Given the description of an element on the screen output the (x, y) to click on. 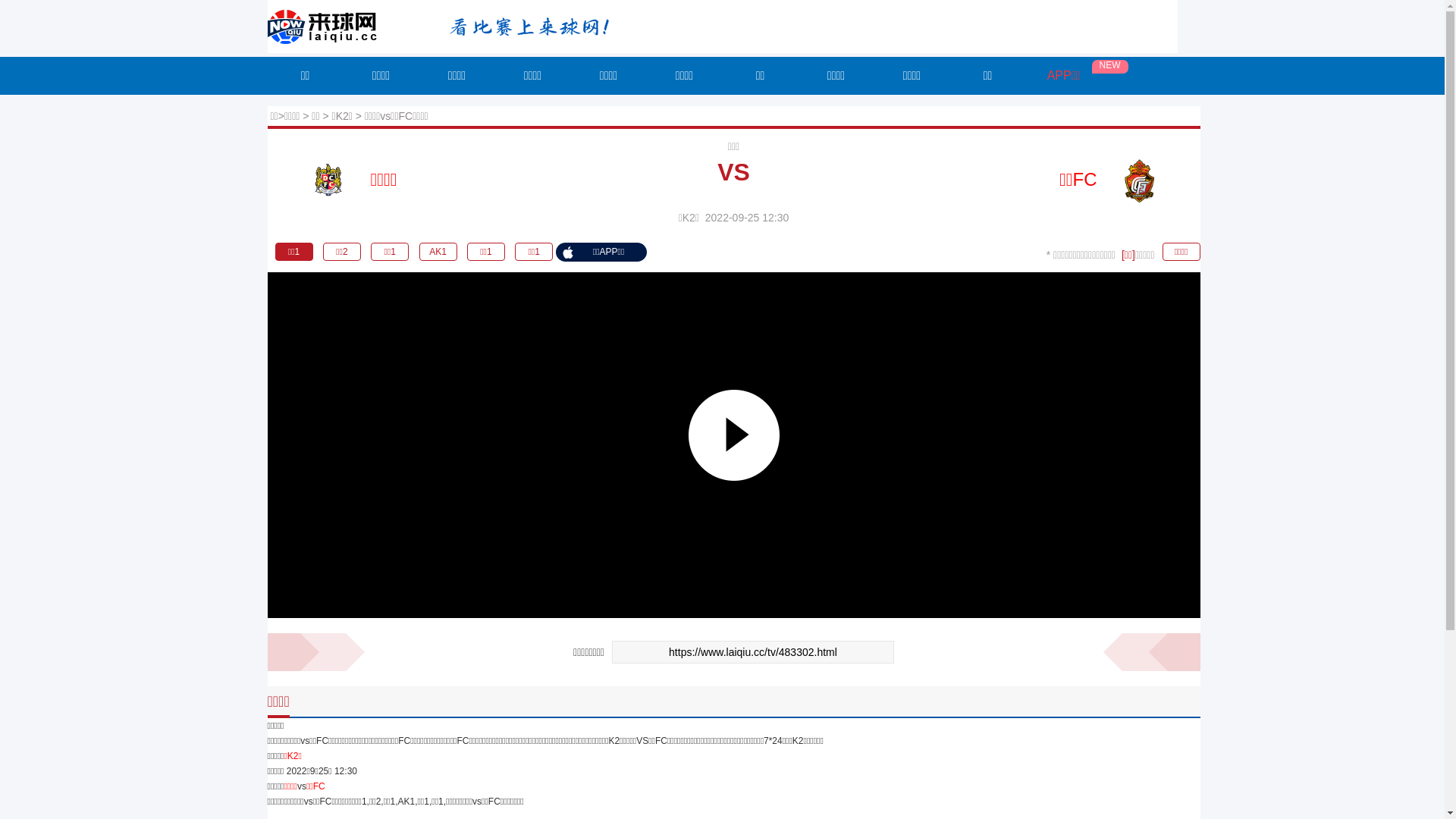
AK1 Element type: text (438, 251)
https://www.laiqiu.cc/tv/483302.html Element type: text (752, 651)
